Given the description of an element on the screen output the (x, y) to click on. 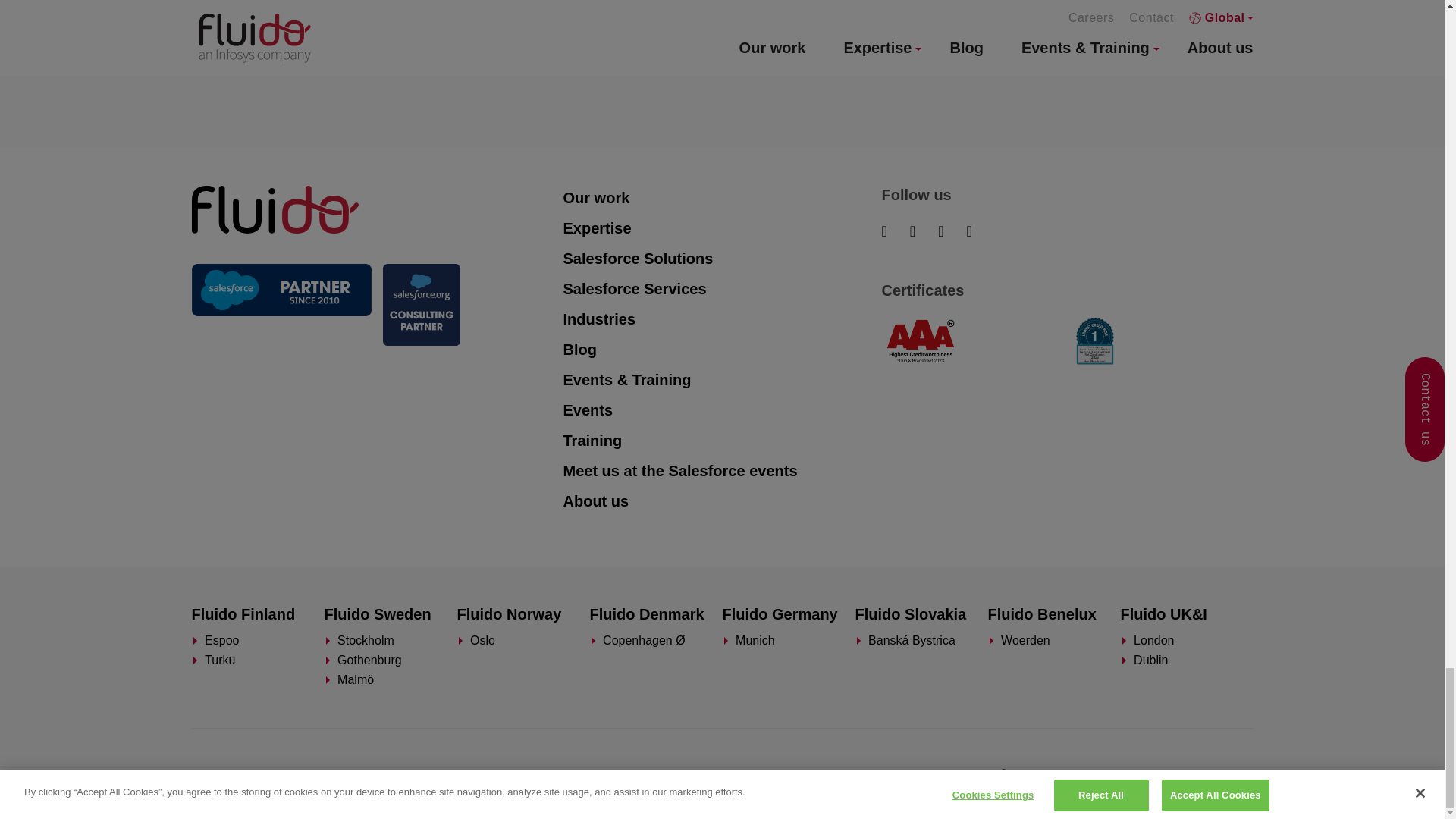
Blog (721, 349)
Our work (721, 197)
Salesforce Services (721, 289)
Expertise (721, 228)
Events (721, 410)
Fluido (274, 208)
Industries (721, 319)
Salesforce Solutions (721, 258)
